Given the description of an element on the screen output the (x, y) to click on. 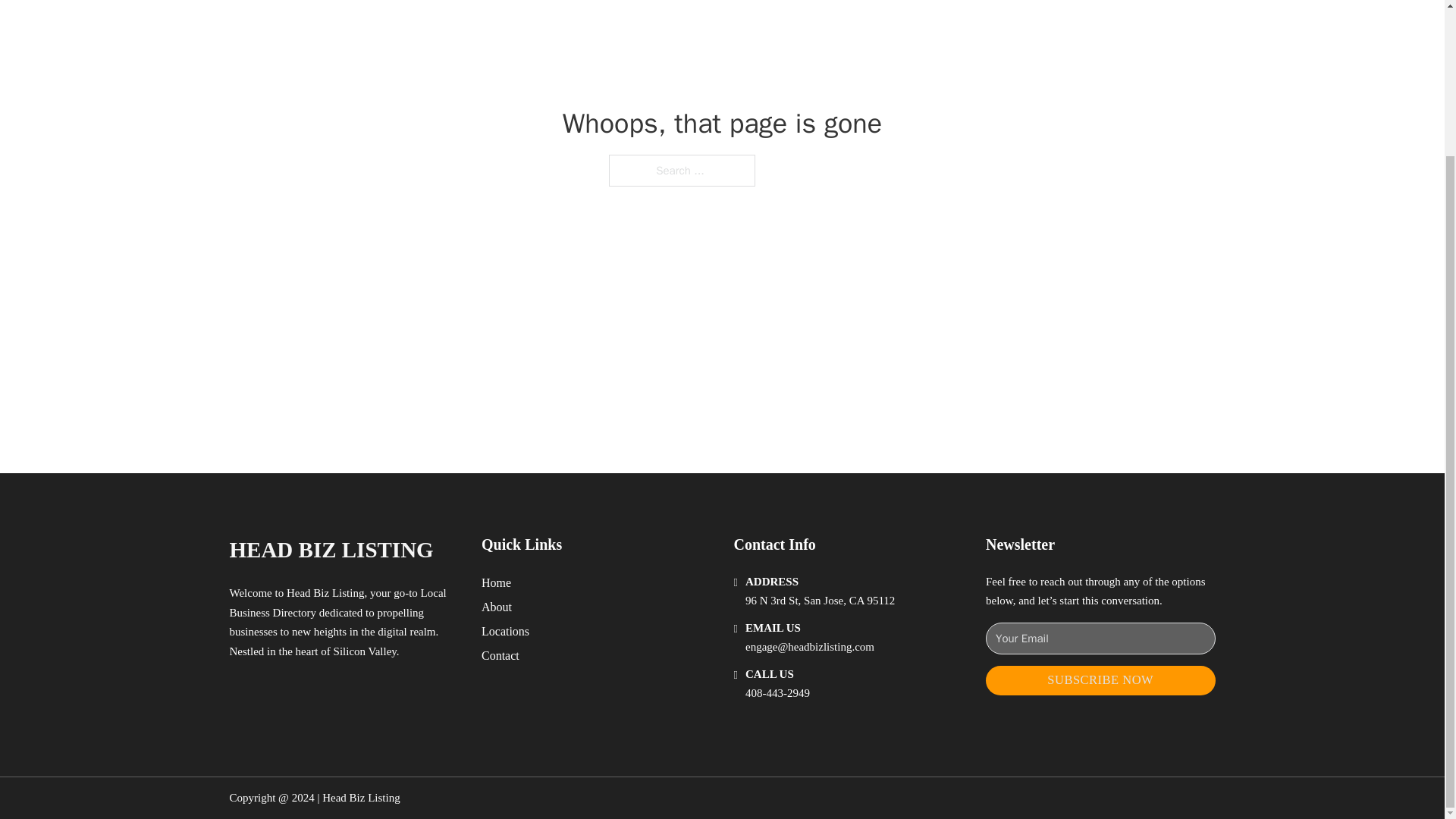
Home (496, 582)
SUBSCRIBE NOW (1100, 680)
About (496, 607)
408-443-2949 (777, 693)
Locations (505, 630)
HEAD BIZ LISTING (330, 549)
Contact (500, 655)
